Given the description of an element on the screen output the (x, y) to click on. 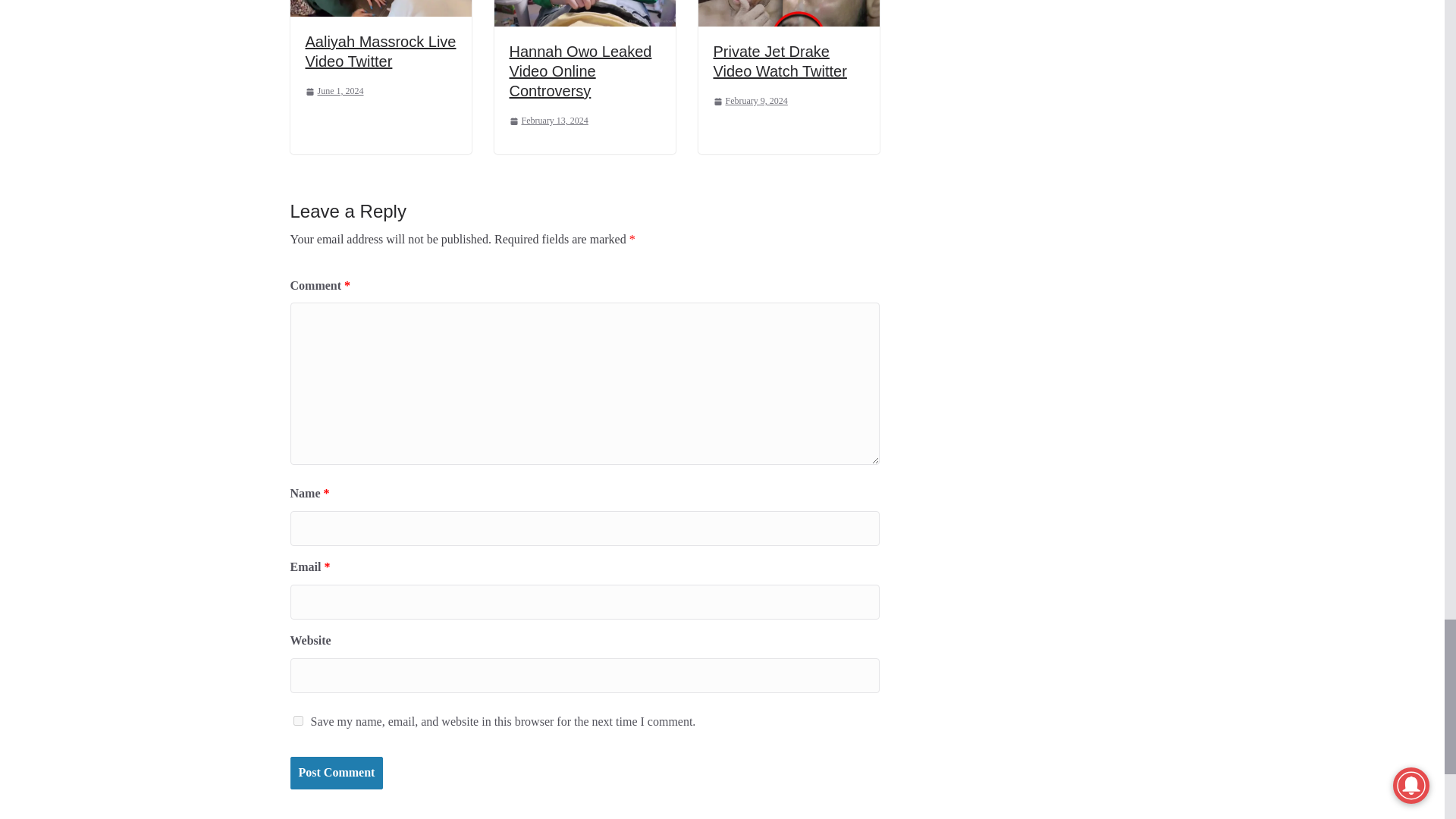
Hannah Owo Leaked Video Online Controversy (580, 71)
Post Comment (335, 772)
June 1, 2024 (333, 91)
yes (297, 720)
February 9, 2024 (750, 101)
Private Jet Drake Video Watch Twitter (779, 61)
Post Comment (335, 772)
Aaliyah Massrock Live Video Twitter (379, 51)
Aaliyah Massrock Live Video Twitter (379, 51)
February 13, 2024 (548, 121)
8:01 pm (333, 91)
